Given the description of an element on the screen output the (x, y) to click on. 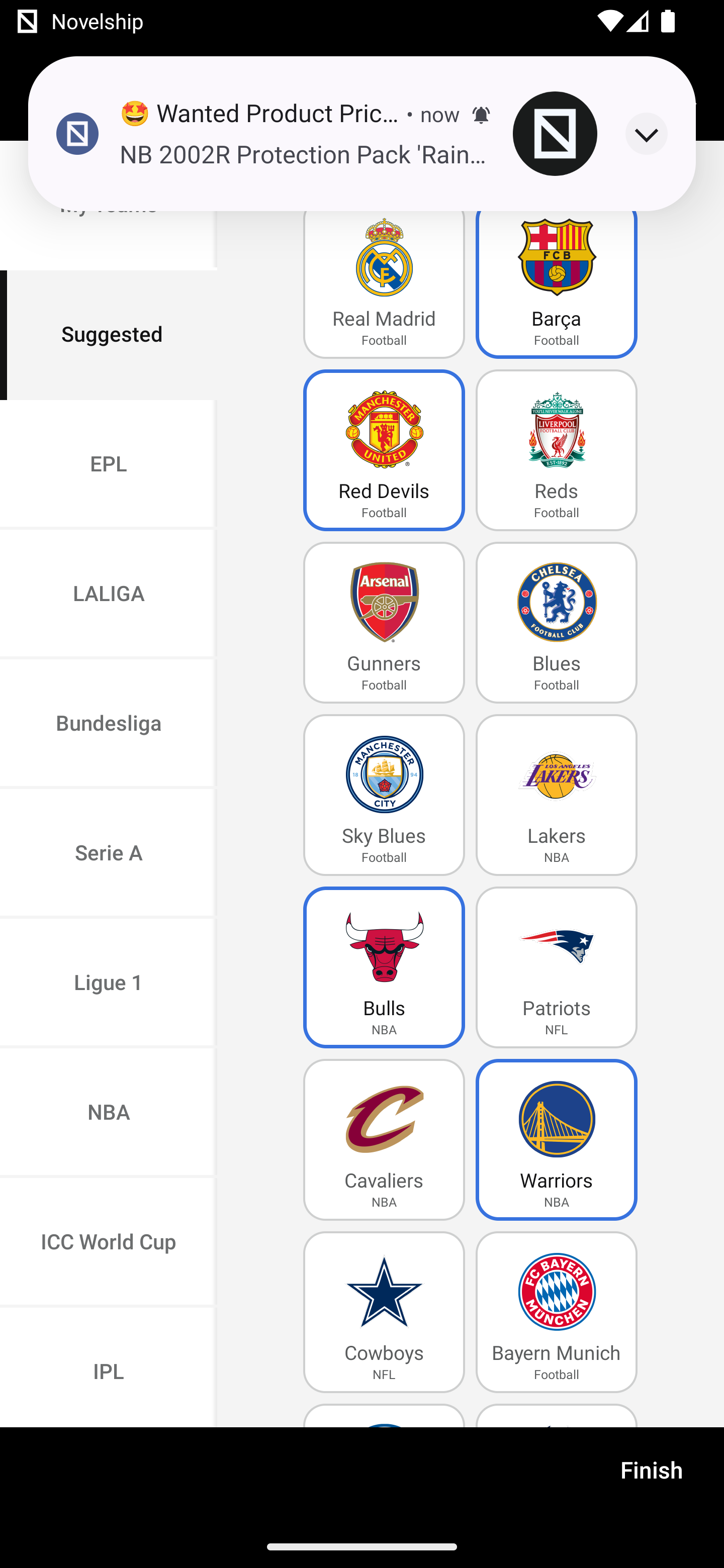
Real Madrid Real Madrid Football (383, 278)
Barça BarçaSelected Football (556, 278)
Suggested (108, 334)
Red Devils Red DevilsSelected Football (383, 450)
Reds Reds Football (556, 450)
EPL (108, 464)
LALIGA (108, 594)
Gunners Gunners Football (383, 623)
Blues Blues Football (556, 623)
Bundesliga (108, 725)
Sky Blues Sky Blues Football (383, 794)
Lakers Lakers NBA (556, 794)
Serie A (108, 853)
Bulls BullsSelected NBA (383, 966)
Patriots Patriots NFL (556, 966)
Ligue 1 (108, 983)
NBA (108, 1113)
Cavaliers Cavaliers NBA (383, 1139)
Warriors WarriorsSelected NBA (556, 1139)
ICC World Cup (108, 1242)
Cowboys Cowboys NFL (383, 1311)
Bayern Munich Bayern Munich Football (556, 1311)
IPL (108, 1366)
Finish Finish and Close (651, 1475)
